Given the description of an element on the screen output the (x, y) to click on. 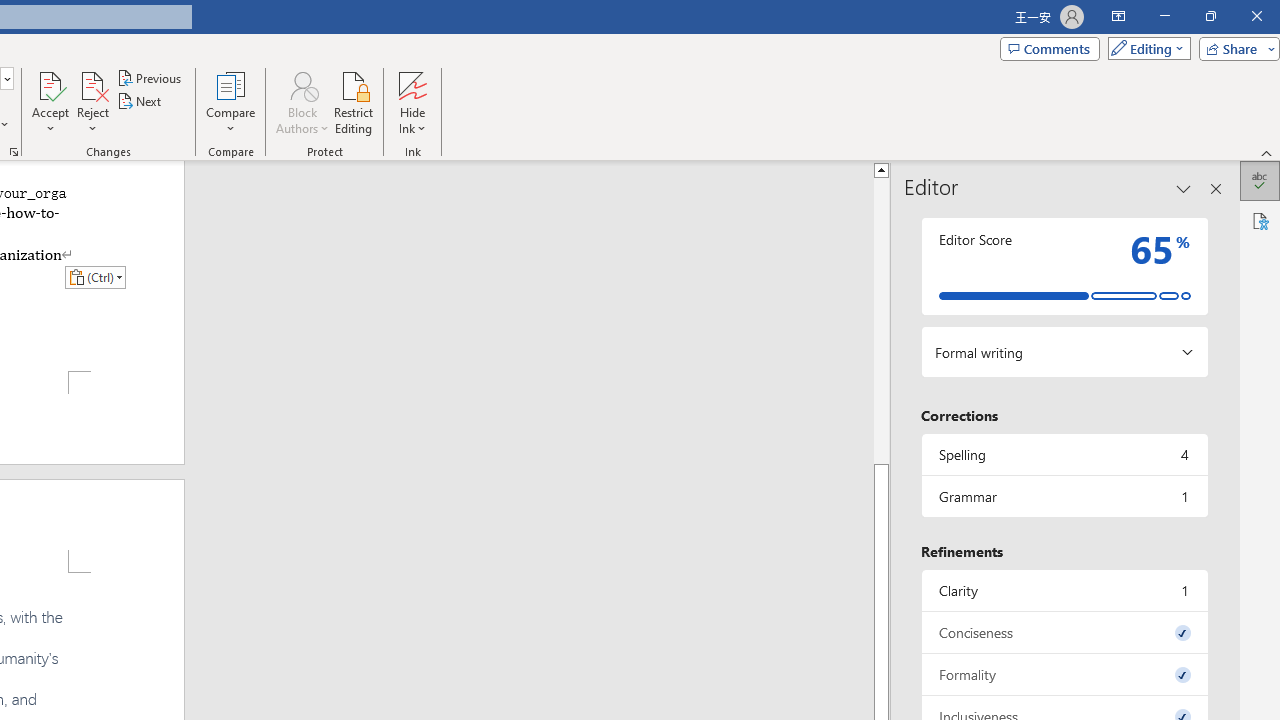
Compare (230, 102)
Spelling, 4 issues. Press space or enter to review items. (1064, 454)
Block Authors (302, 84)
Clarity, 1 issue. Press space or enter to review items. (1064, 590)
Grammar, 1 issue. Press space or enter to review items. (1064, 495)
Line up (880, 169)
Hide Ink (412, 84)
Editing (1144, 47)
Action: Paste alternatives (95, 276)
Reject (92, 102)
